Given the description of an element on the screen output the (x, y) to click on. 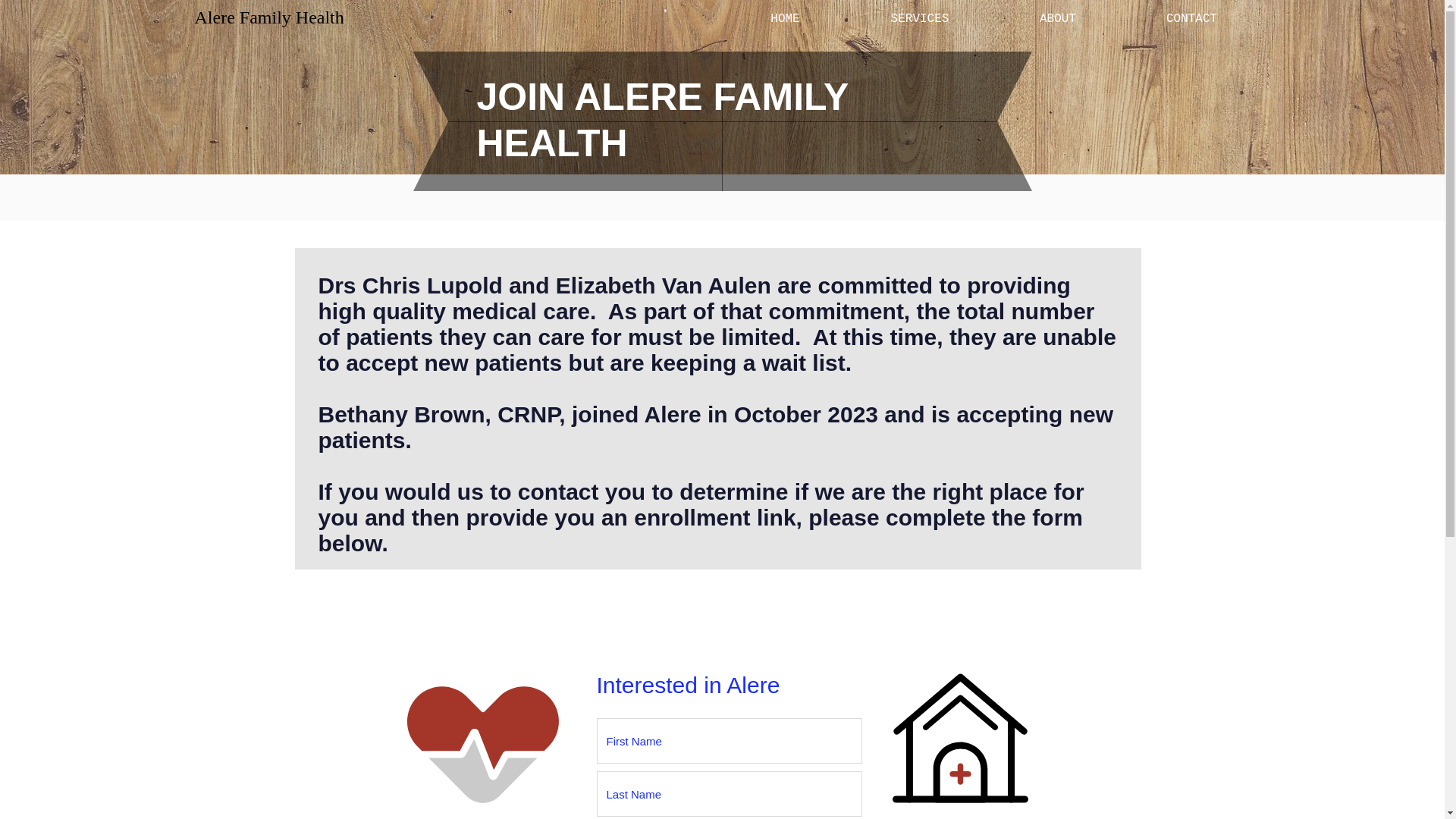
HOME (784, 18)
SERVICES (919, 18)
CONTACT (1191, 18)
ABOUT (1057, 18)
